Given the description of an element on the screen output the (x, y) to click on. 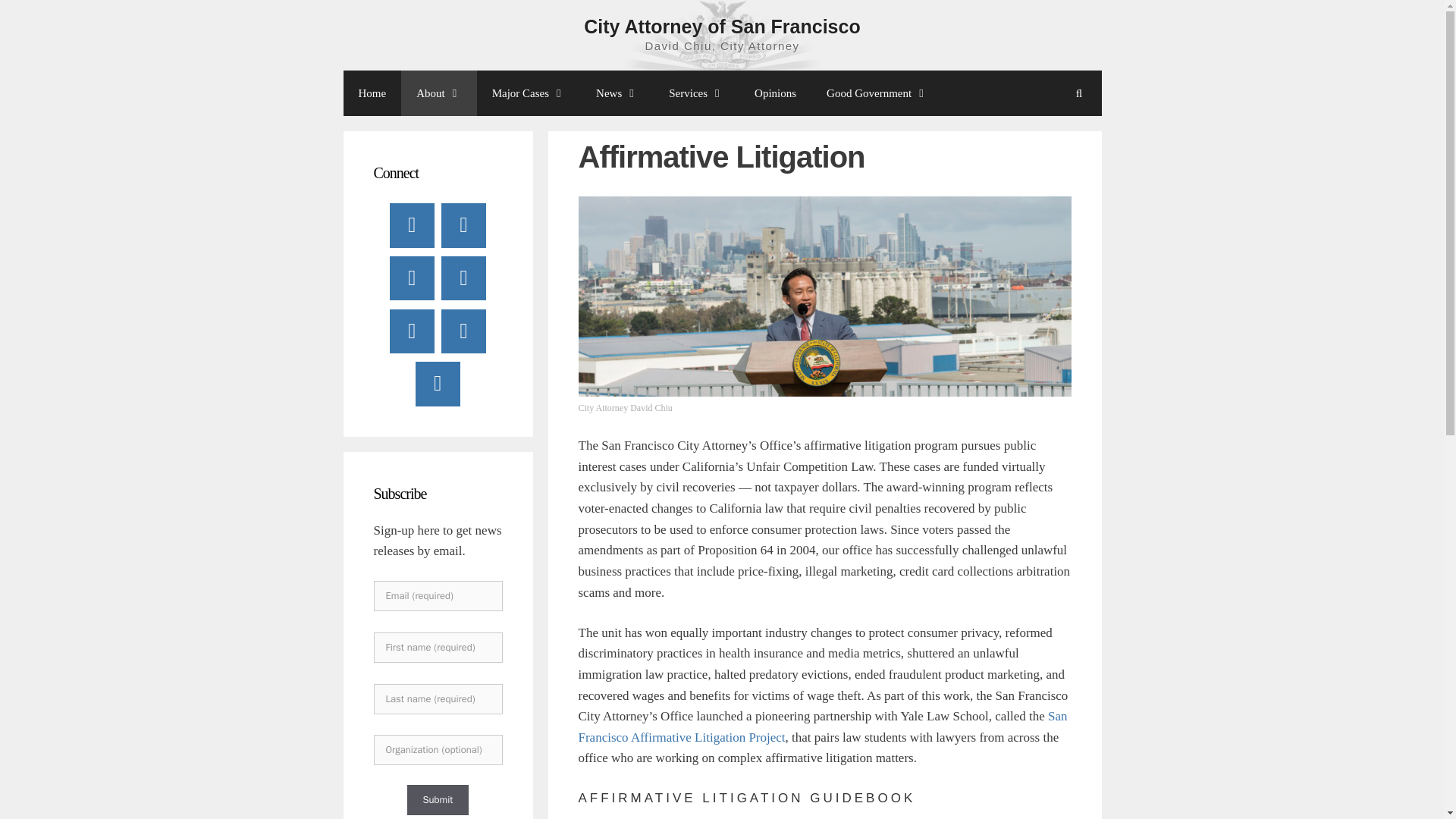
Services (696, 92)
Submit (437, 799)
News (616, 92)
About (439, 92)
City Attorney of San Francisco on Rss (437, 383)
City Attorney of San Francisco on Instagram (411, 330)
City Attorney of San Francisco on X Twitter (462, 225)
City Attorney of San Francisco on Youtube (411, 278)
City Attorney of San Francisco (721, 25)
City Attorney of San Francisco on Facebook (411, 225)
City Attorney of San Francisco on Linkedin (462, 278)
City Attorney of San Francisco on Envelope (462, 330)
Major Cases (528, 92)
Home (371, 92)
